Given the description of an element on the screen output the (x, y) to click on. 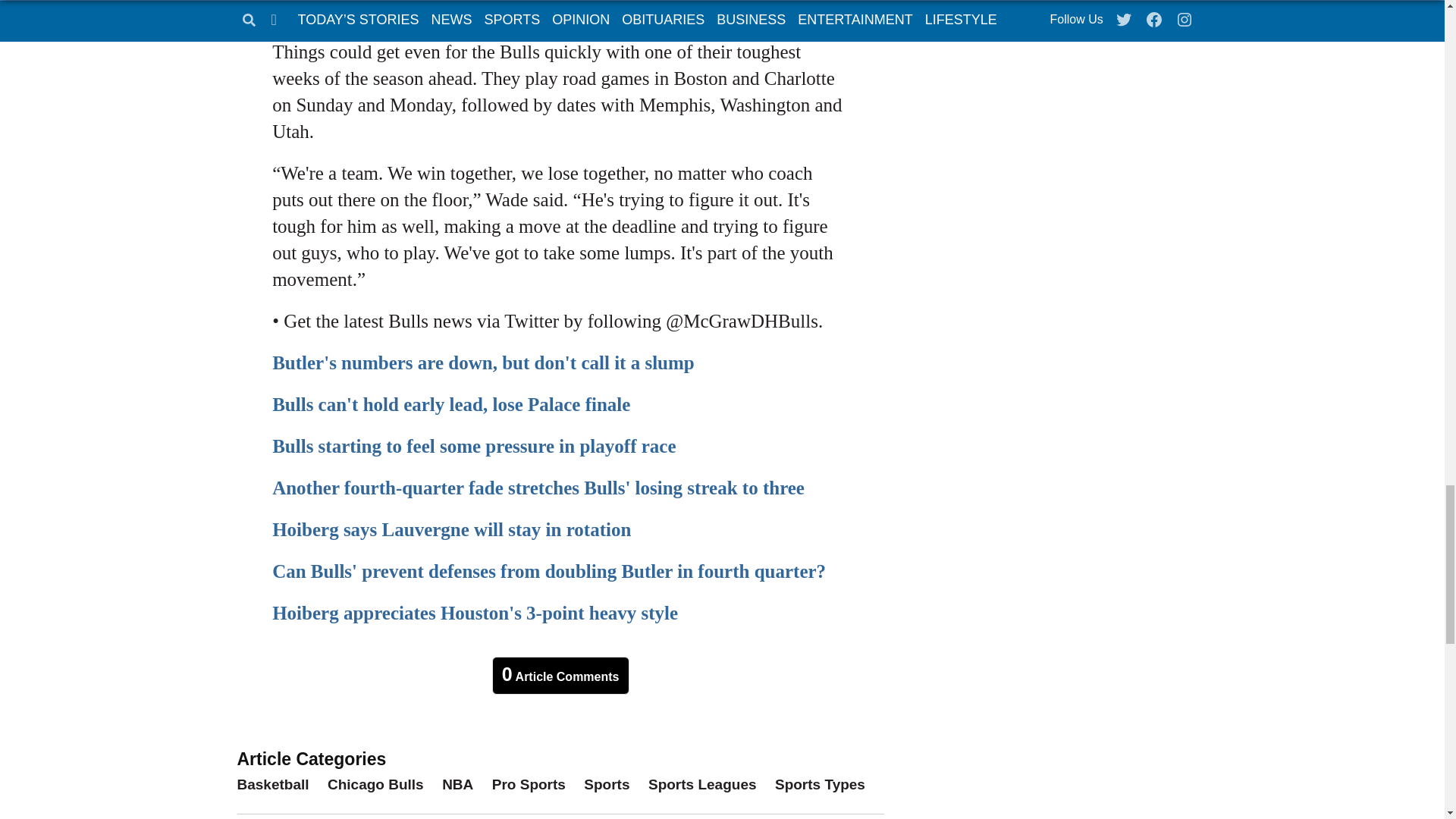
Hoiberg appreciates Houston's 3-point heavy style (475, 612)
Hoiberg says Lauvergne will stay in rotation (451, 529)
Bulls can't hold early lead, lose Palace finale (451, 403)
Butler's numbers are down, but don't call it a slump (483, 362)
Bulls starting to feel some pressure in playoff race (473, 445)
